Given the description of an element on the screen output the (x, y) to click on. 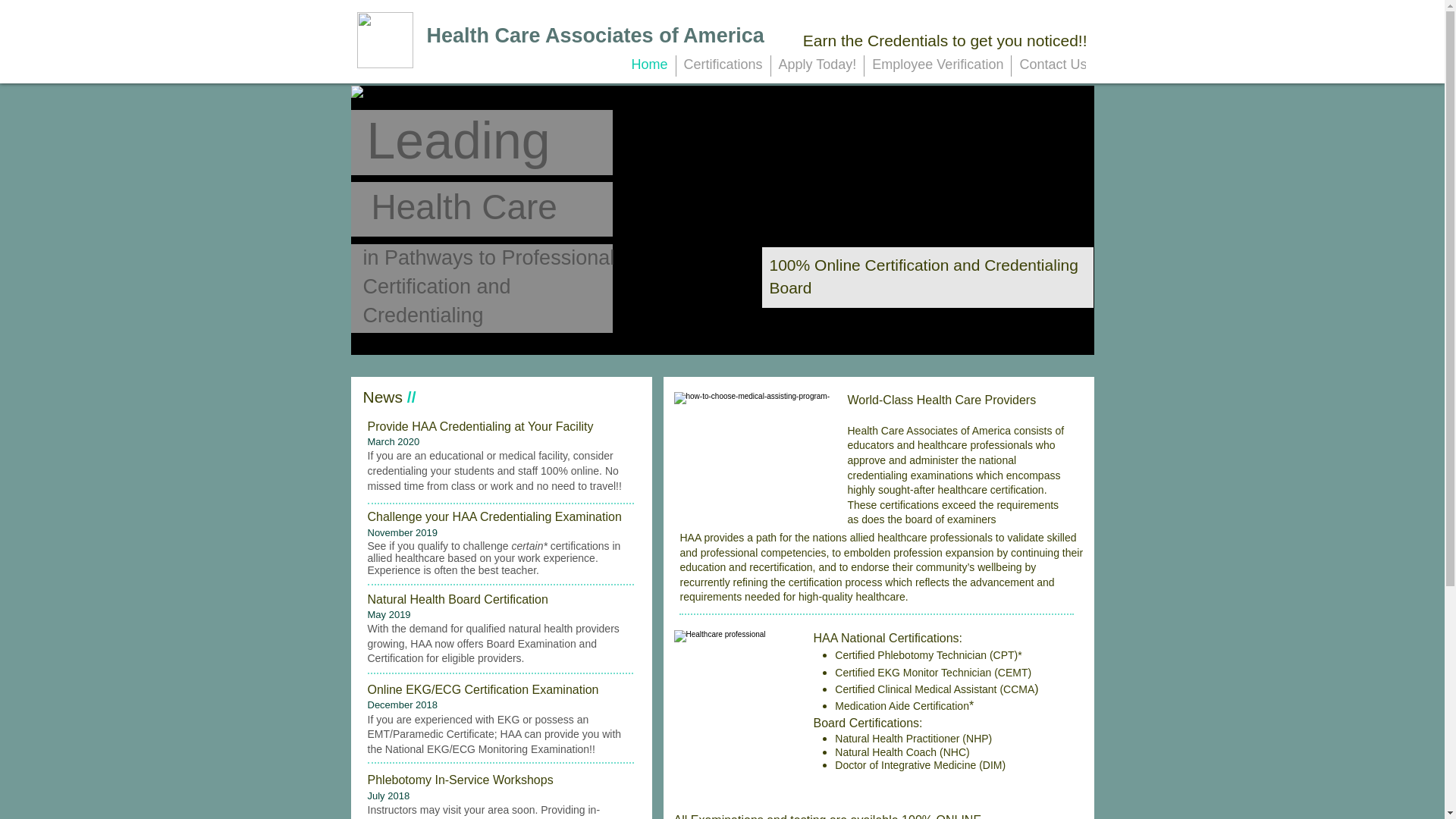
Home (649, 65)
Nurse (735, 717)
Employee Verification (937, 65)
Apply Today! (817, 65)
Contact Us (1052, 65)
Certifications (723, 65)
